Given the description of an element on the screen output the (x, y) to click on. 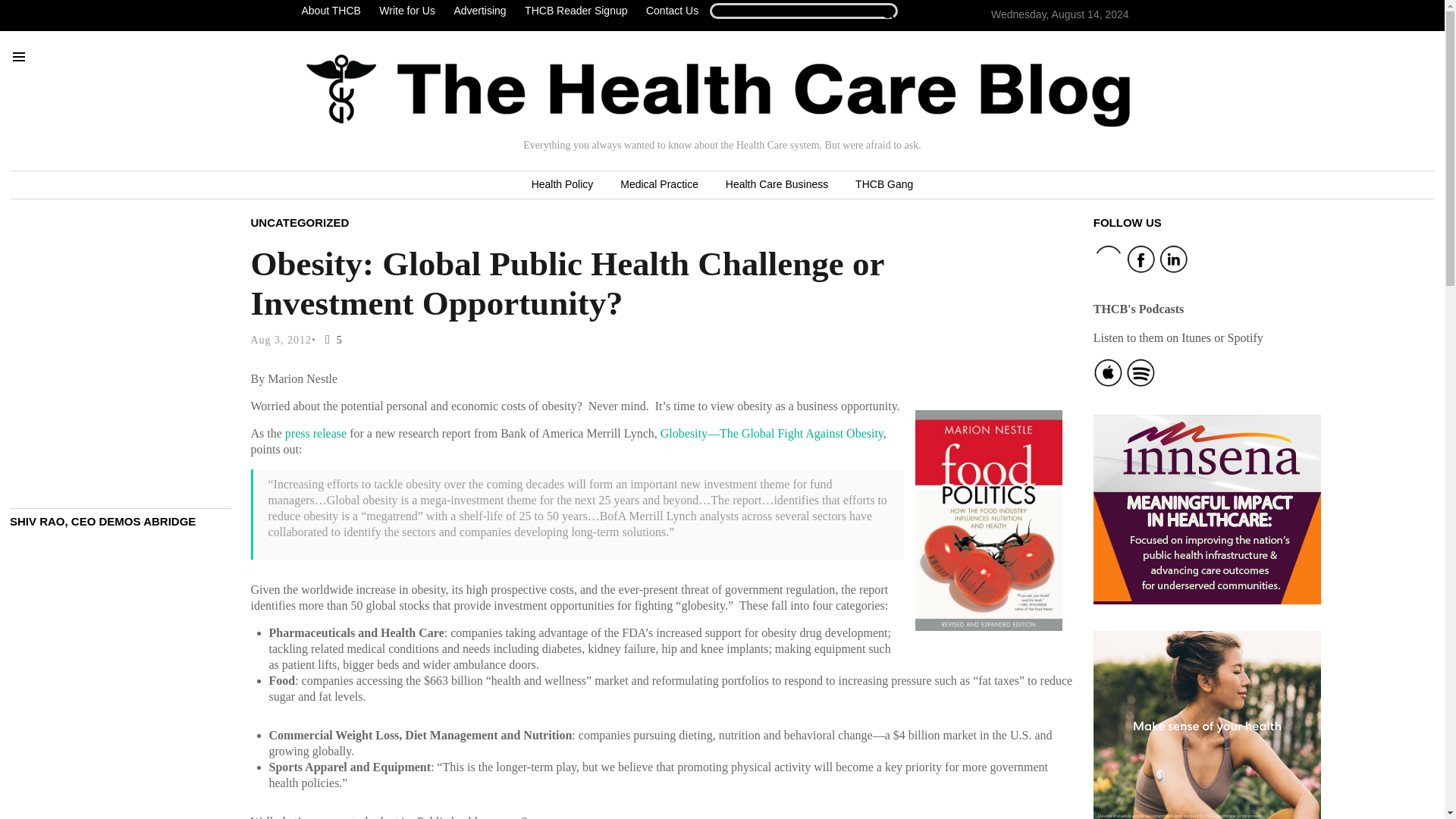
THCB Reader Signup (575, 10)
Medical Practice (659, 184)
Advertising (479, 10)
UNCATEGORIZED (299, 221)
Home (718, 90)
5 (330, 339)
About THCB (334, 10)
press release (315, 432)
Health Care Business (776, 184)
Contact Us (672, 10)
